Given the description of an element on the screen output the (x, y) to click on. 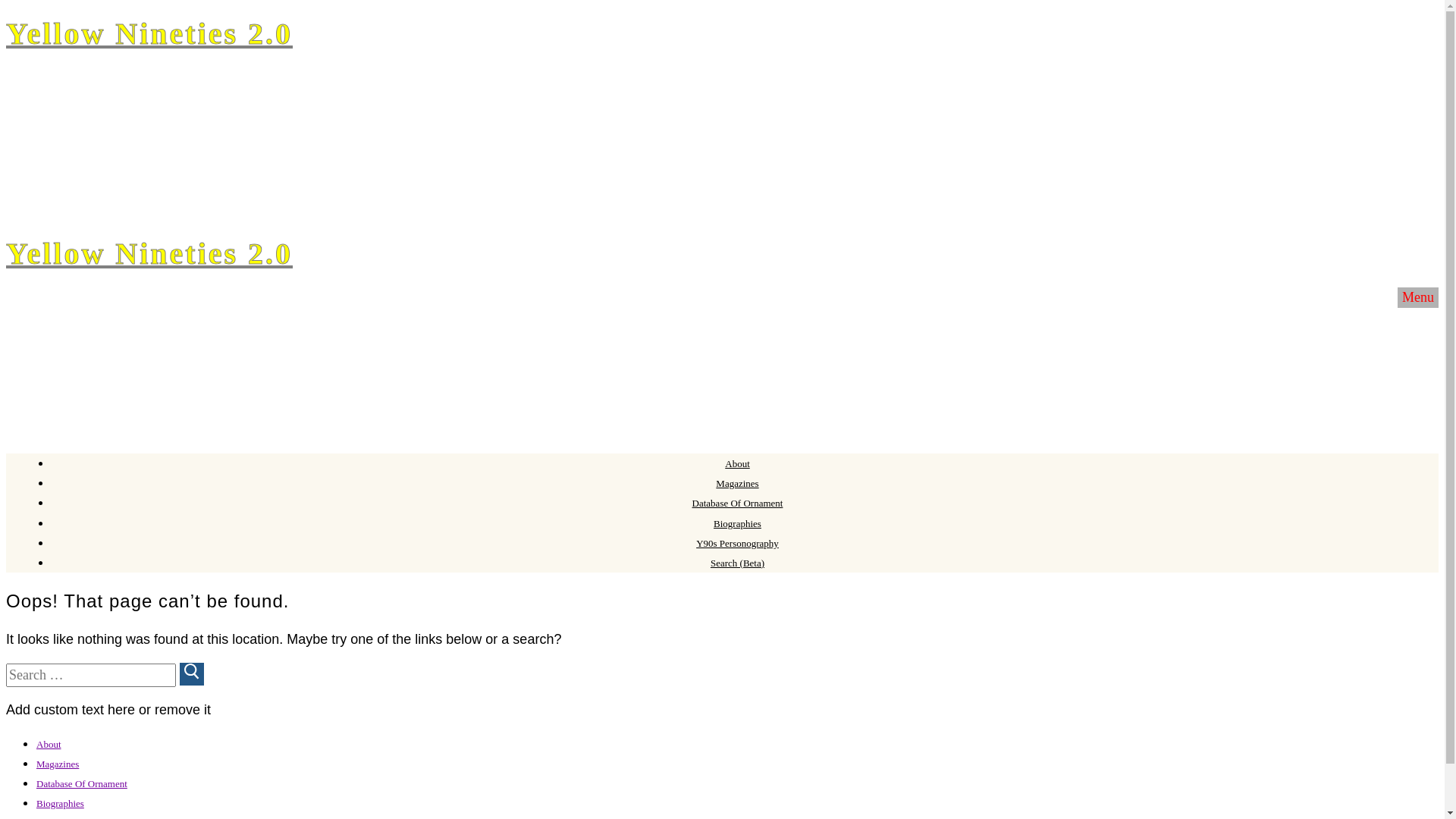
Search for: Element type: hover (90, 675)
Yellow Nineties 2.0 Element type: text (149, 33)
Magazines Element type: text (736, 483)
Skip to content Element type: text (5, 29)
Magazines Element type: text (57, 763)
Database Of Ornament Element type: text (81, 783)
Y90s Personography Element type: text (737, 543)
Menu Element type: text (1417, 297)
About Element type: text (48, 743)
Biographies Element type: text (60, 803)
Yellow Nineties 2.0 Element type: text (149, 253)
Search (Beta) Element type: text (737, 562)
Database Of Ornament Element type: text (737, 502)
Biographies Element type: text (737, 523)
About Element type: text (736, 463)
